Given the description of an element on the screen output the (x, y) to click on. 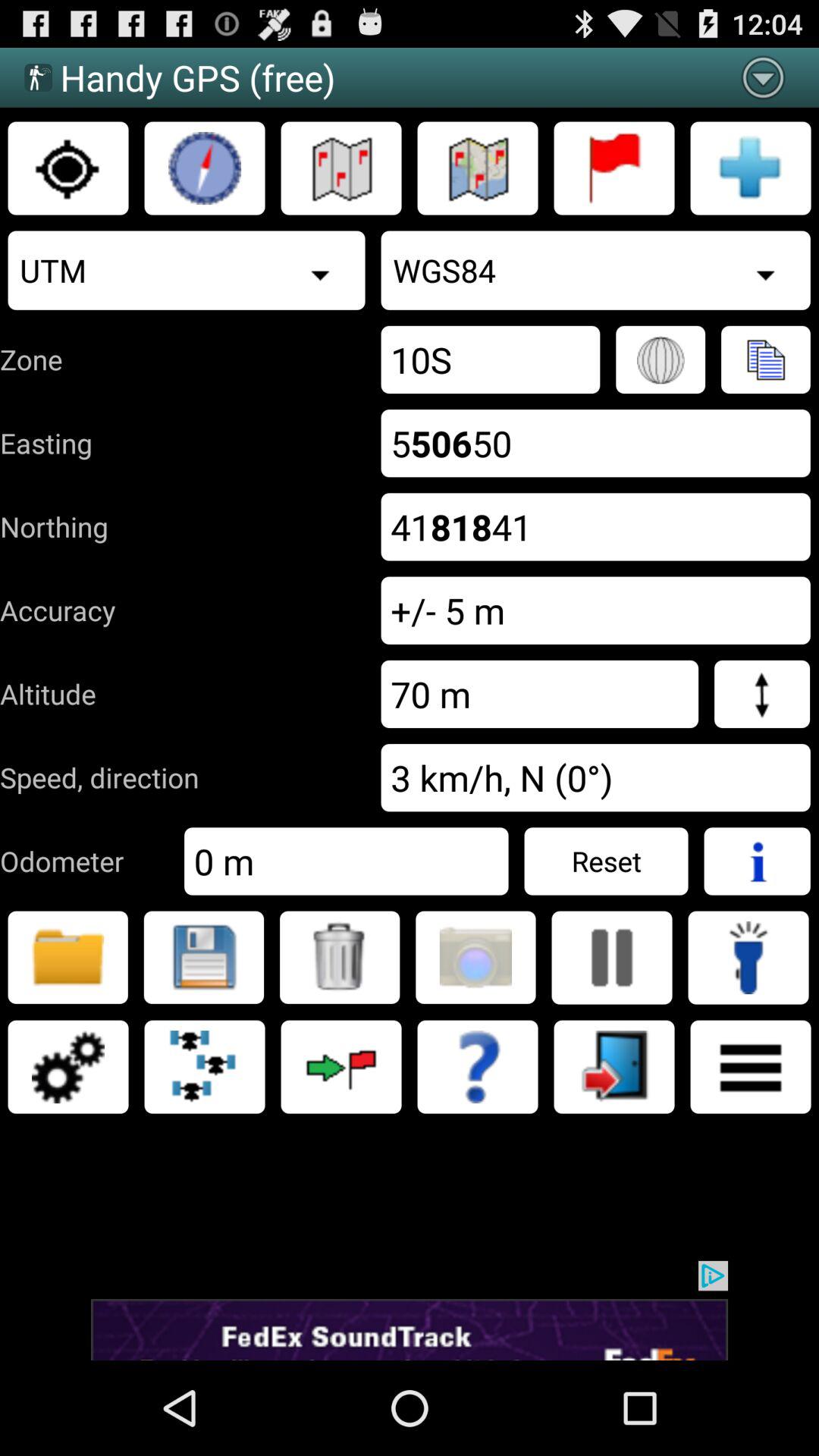
timing the option (204, 167)
